Given the description of an element on the screen output the (x, y) to click on. 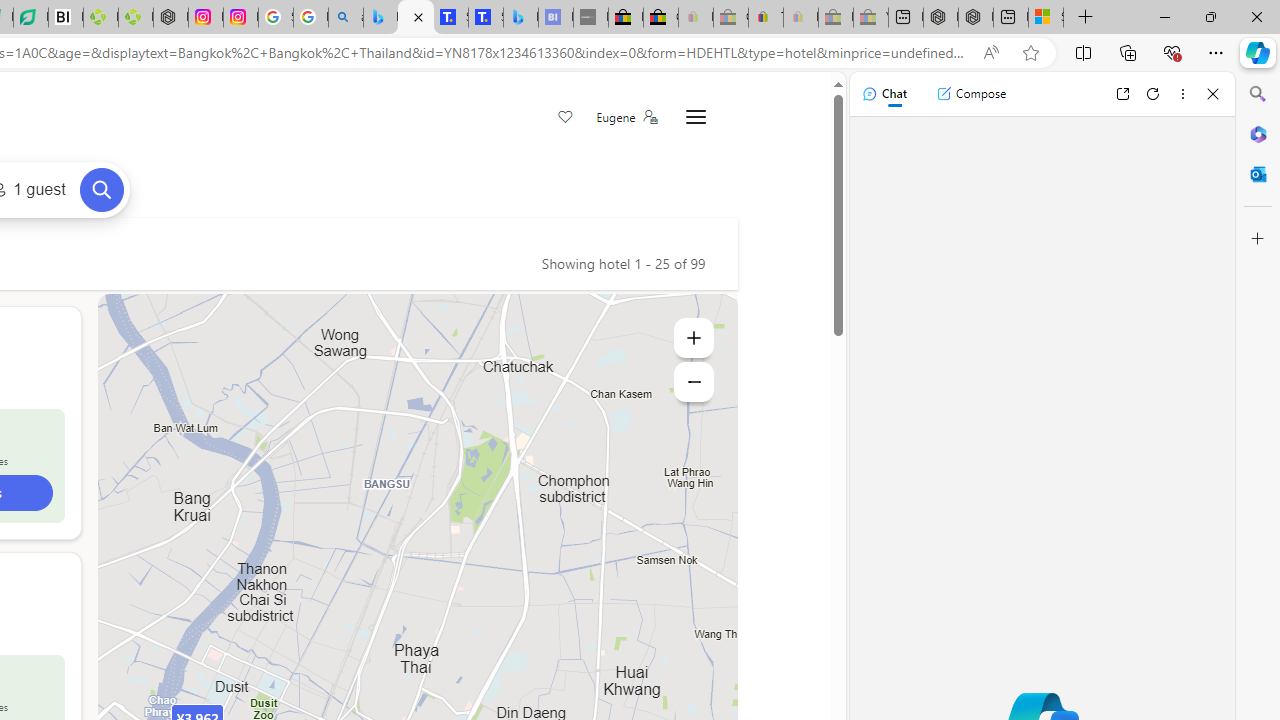
Zoom out (693, 381)
Payments Terms of Use | eBay.com - Sleeping (800, 17)
alabama high school quarterback dies - Search (346, 17)
Nordace - Summer Adventures 2024 (975, 17)
Yard, Garden & Outdoor Living - Sleeping (870, 17)
Threats and offensive language policy | eBay (765, 17)
